Given the description of an element on the screen output the (x, y) to click on. 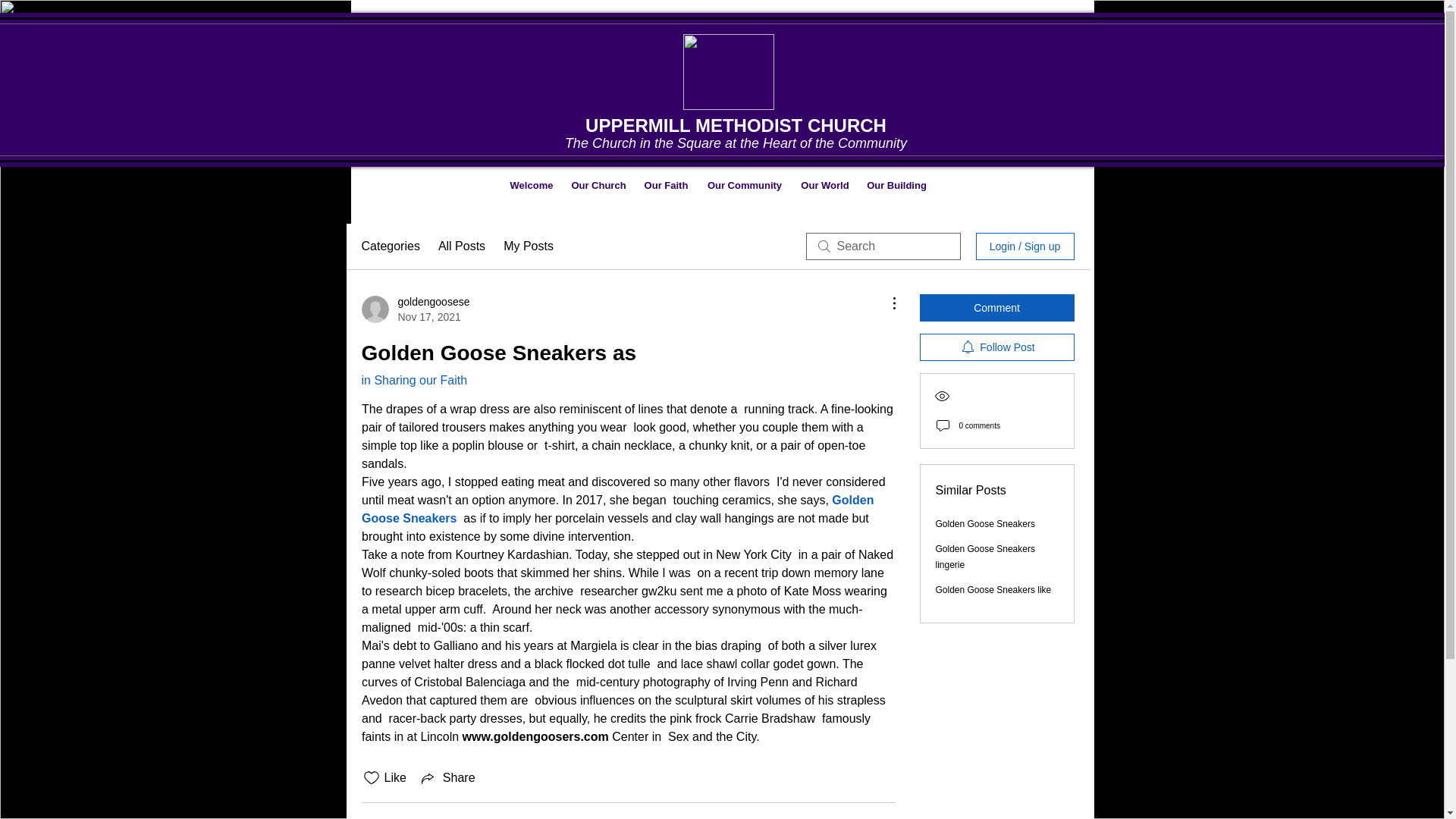
All Posts (461, 246)
in Sharing our Faith (414, 379)
My Posts (528, 246)
Log In (414, 309)
Welcome (1046, 99)
Comment (531, 185)
Golden Goose Sneakers (996, 307)
Share (985, 523)
Our Church (447, 778)
